Given the description of an element on the screen output the (x, y) to click on. 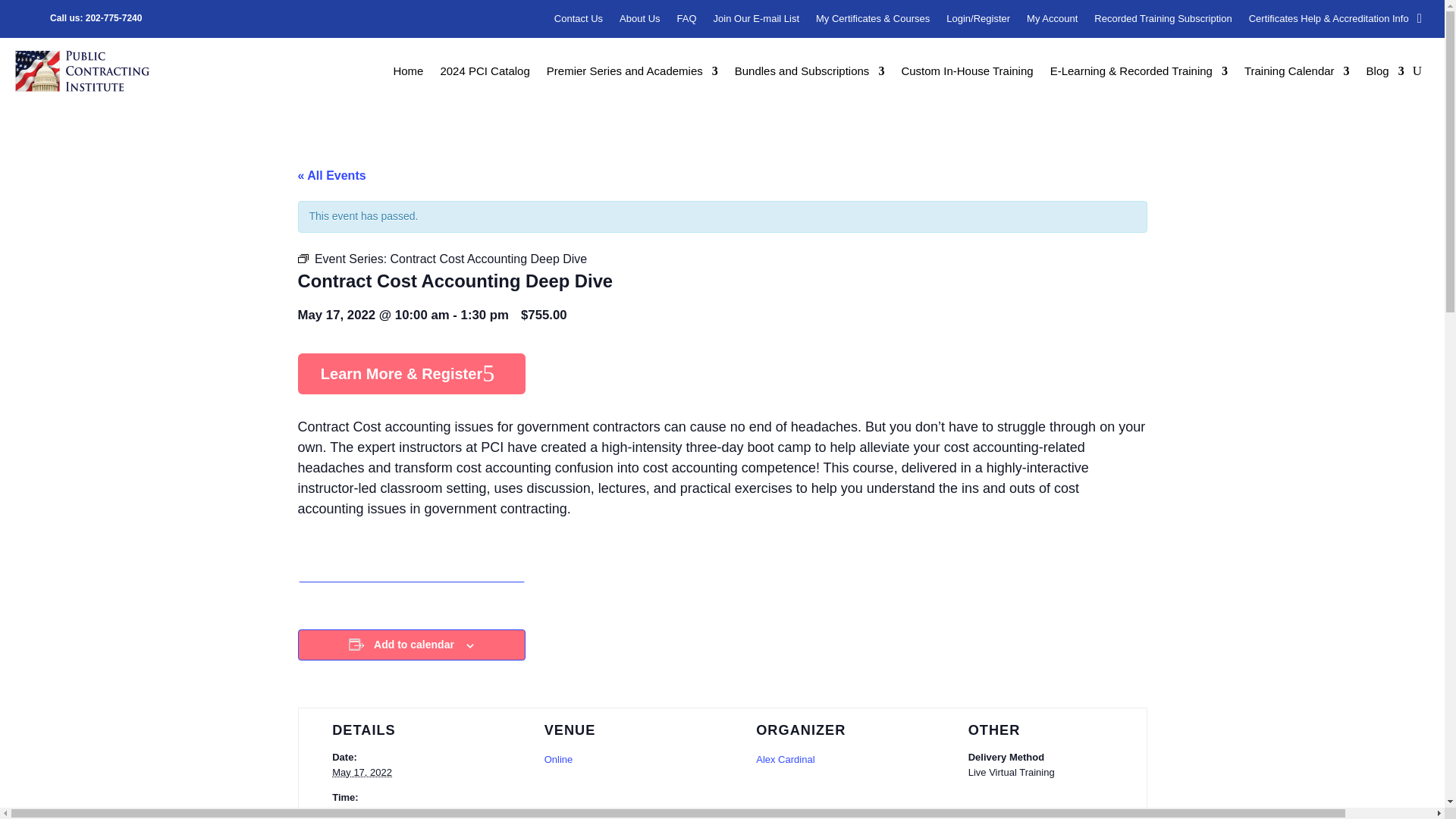
Bundles and Subscriptions (810, 74)
2022-05-17 (361, 772)
Join Our E-mail List (756, 21)
Alex Cardinal (784, 758)
Home (408, 74)
2022-05-17 (403, 812)
Custom In-House Training (966, 74)
FAQ (687, 21)
Contact Us (578, 21)
Recorded Training Subscription (1162, 21)
